Given the description of an element on the screen output the (x, y) to click on. 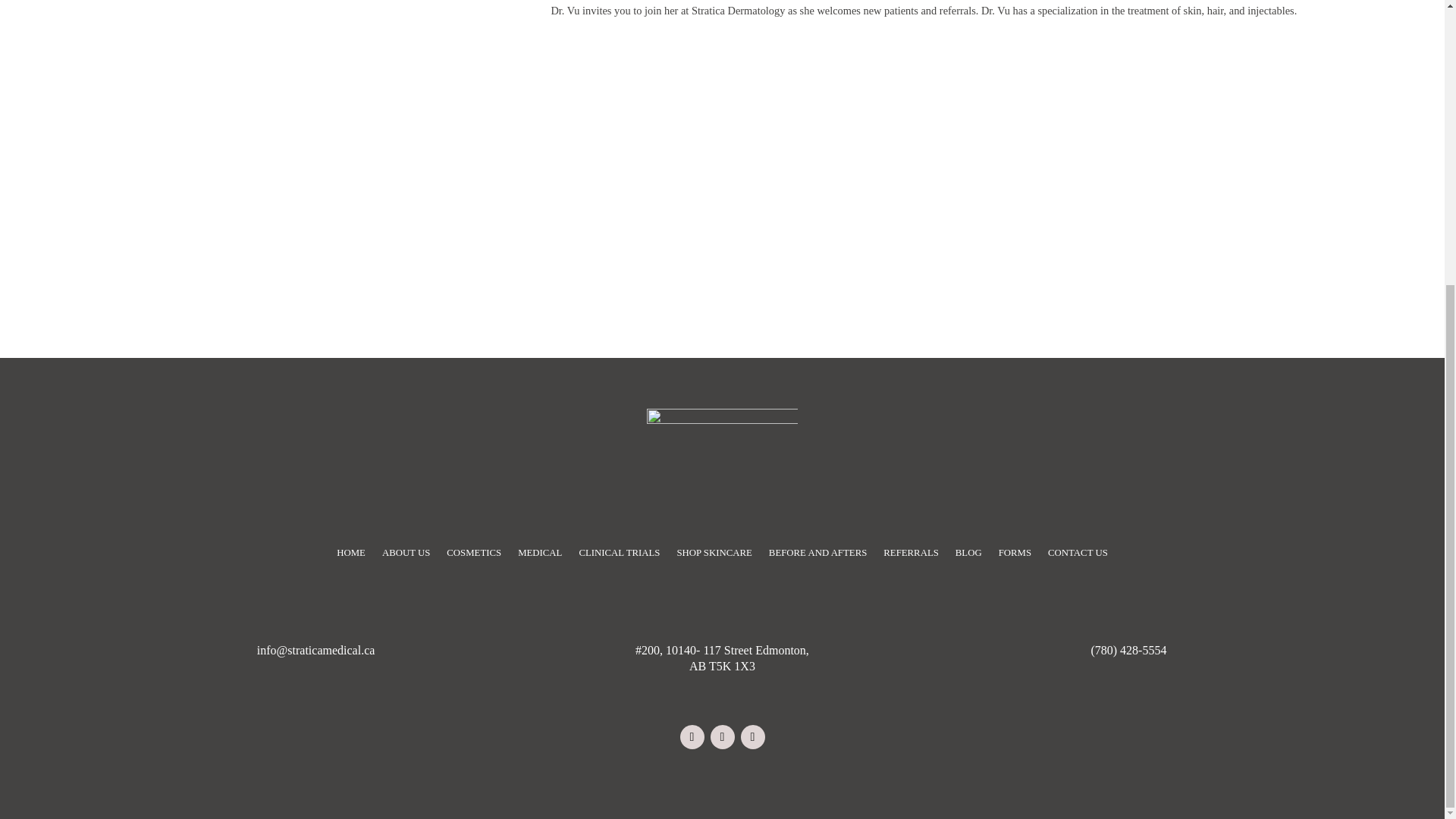
Follow on TikTok (751, 736)
Follow on Instagram (721, 736)
Follow on Facebook (691, 736)
Stratica-Dermatology-logo-White (721, 455)
